Given the description of an element on the screen output the (x, y) to click on. 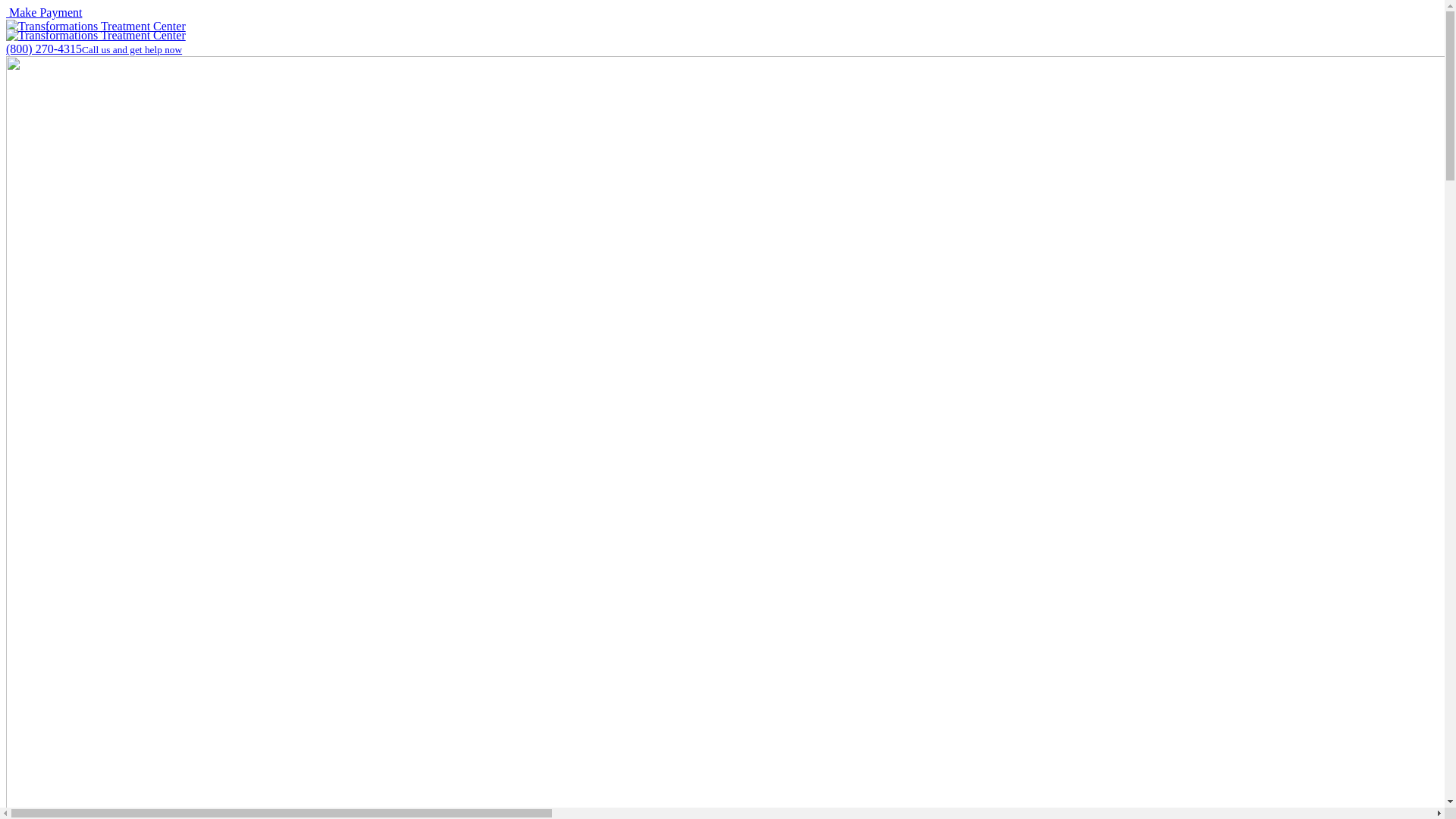
 Make Payment Element type: text (43, 12)
(800) 270-4315Call us and get help now Element type: text (94, 48)
